Given the description of an element on the screen output the (x, y) to click on. 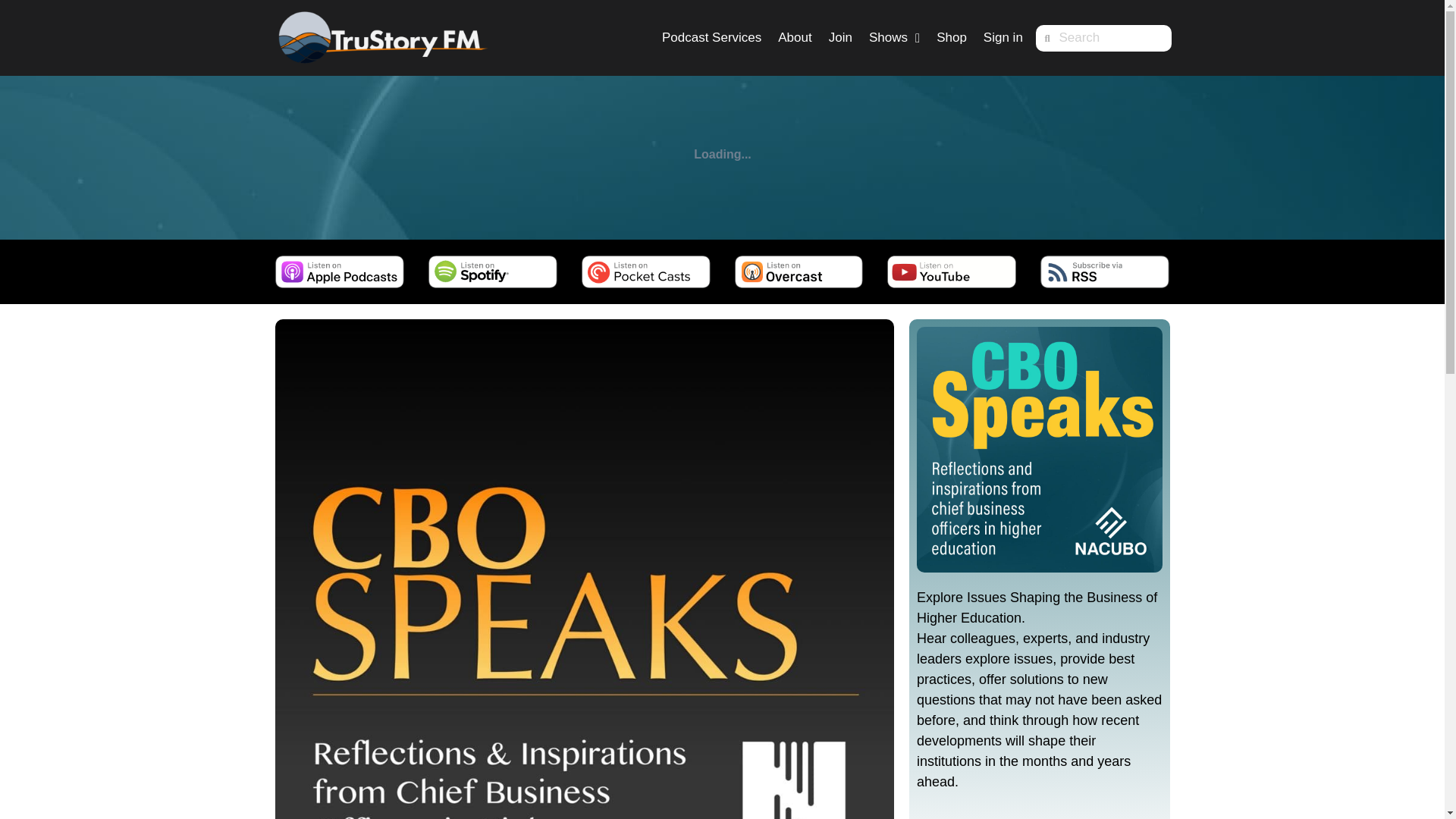
Shows (894, 38)
Podcast Services (711, 38)
